Given the description of an element on the screen output the (x, y) to click on. 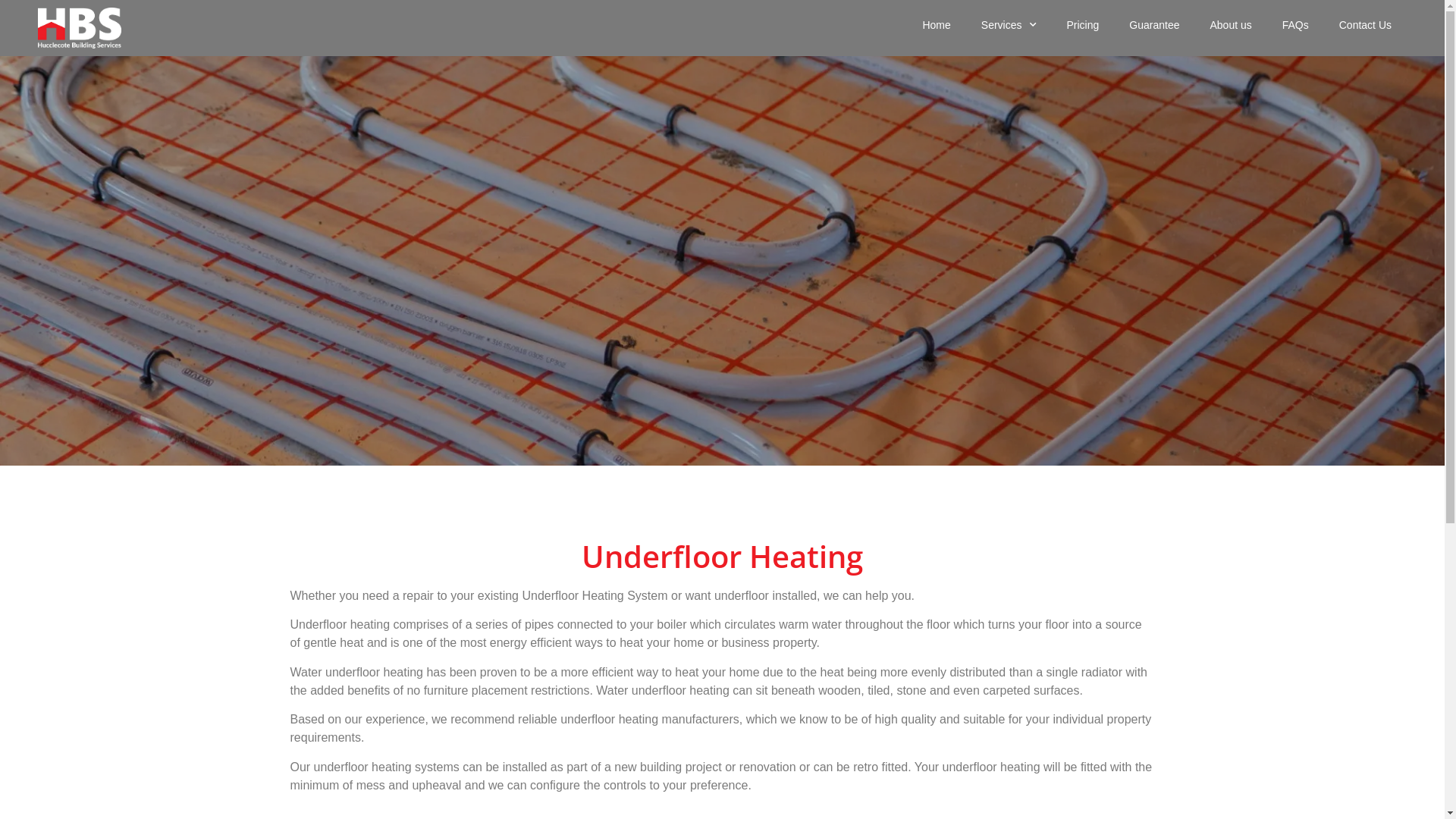
Pricing Element type: text (1082, 24)
FAQs Element type: text (1295, 24)
Guarantee Element type: text (1153, 24)
Services Element type: text (1008, 24)
Home Element type: text (935, 24)
Contact Us Element type: text (1365, 24)
About us Element type: text (1230, 24)
